Given the description of an element on the screen output the (x, y) to click on. 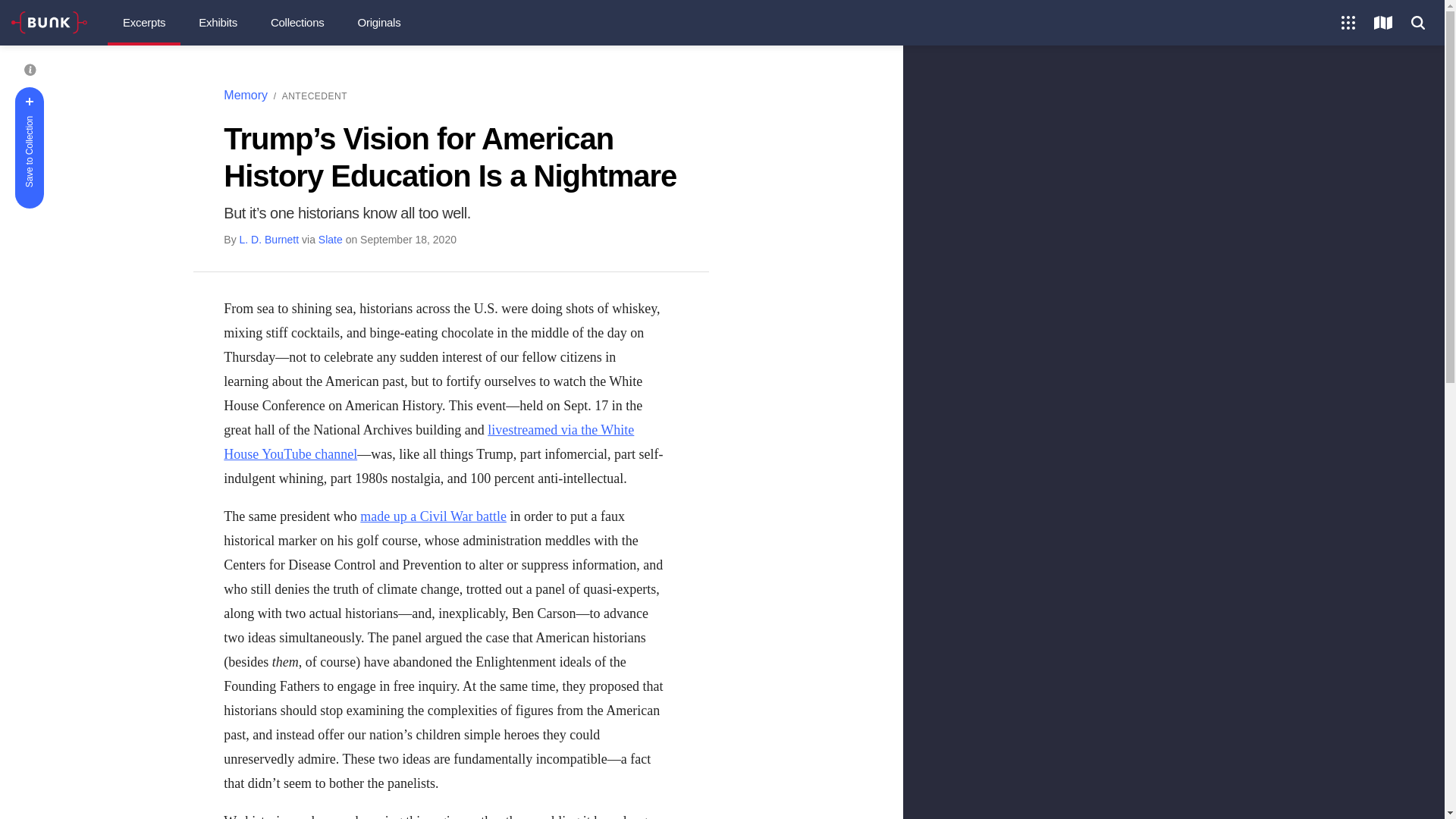
livestreamed via the White House YouTube channel (428, 441)
Memory (245, 94)
made up a Civil War battle (432, 516)
Collections (297, 22)
Originals (379, 22)
Slate (330, 239)
L. D. Burnett (269, 239)
Exhibits (217, 22)
Save to Collection (75, 101)
Excerpts (143, 22)
